Given the description of an element on the screen output the (x, y) to click on. 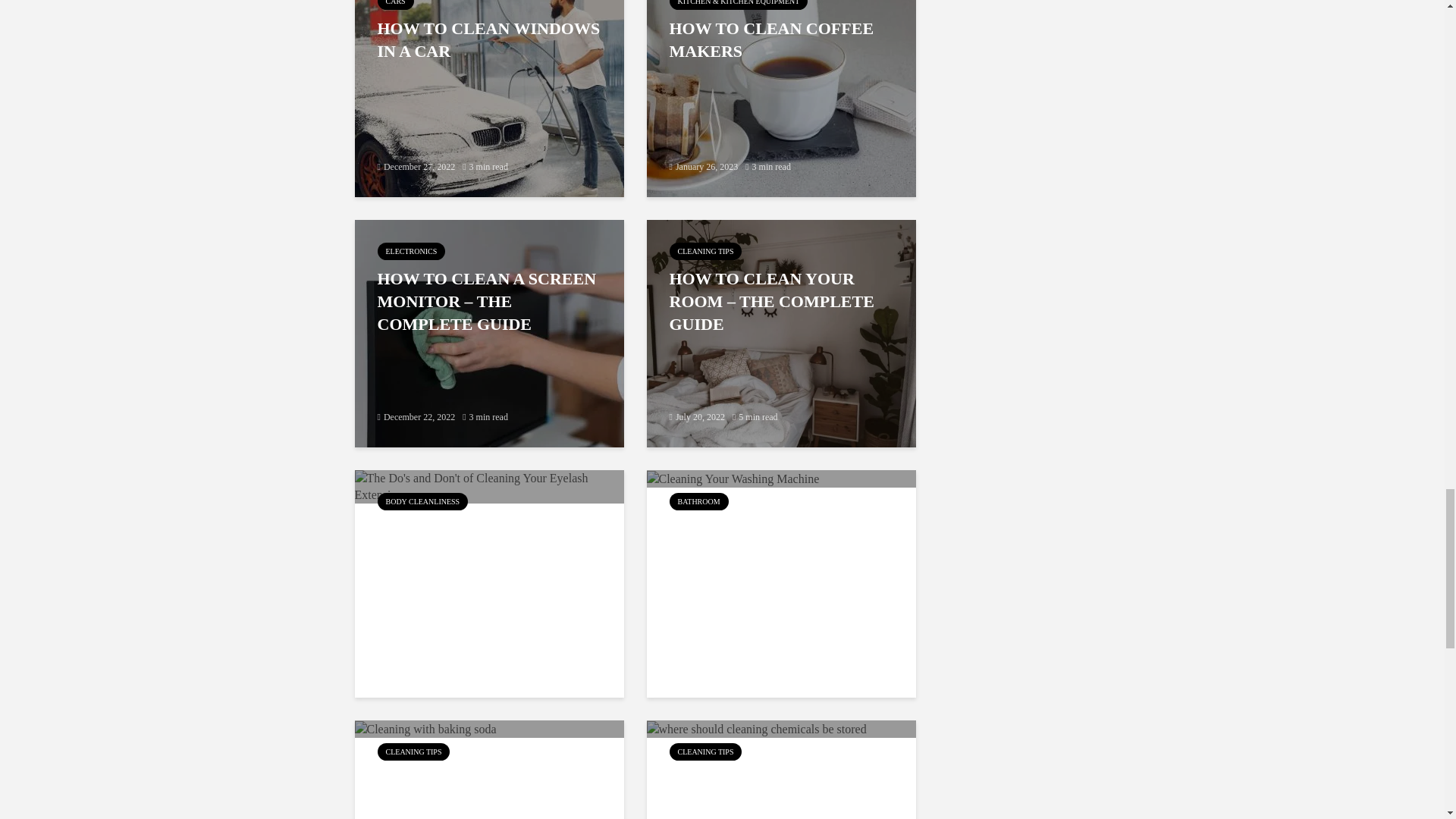
Where Should Cleaning Chemicals be Stored (756, 727)
Cleaning Your Washing Machine (732, 477)
Cleaning with baking soda (425, 727)
How to Clean Windows in a Car (489, 82)
How to Clean Coffee Makers (780, 82)
